Given the description of an element on the screen output the (x, y) to click on. 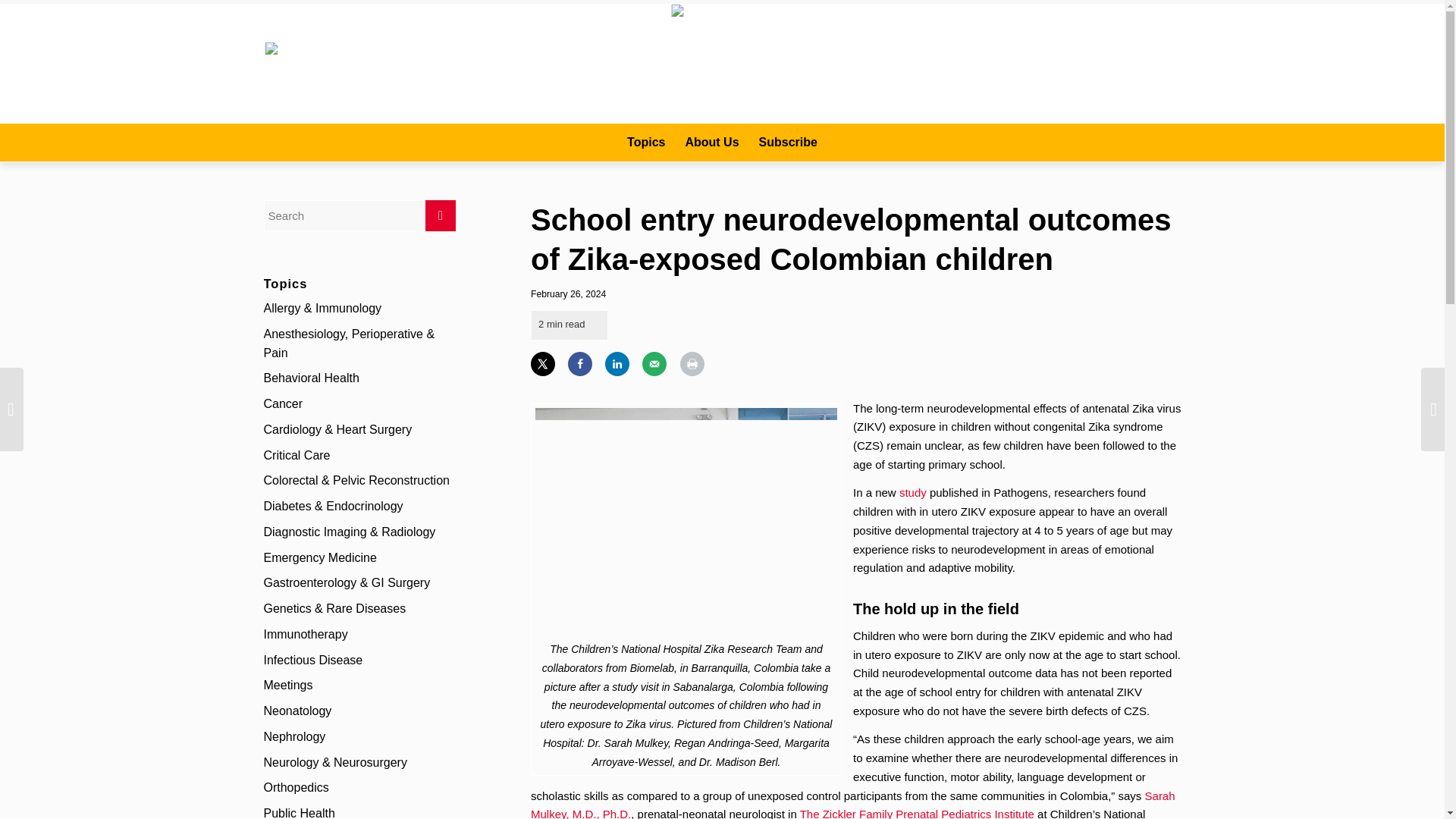
Subscribe (788, 142)
Print this webpage (691, 363)
The Zickler Family Prenatal Pediatrics Institute (916, 813)
Share on X (542, 363)
study (912, 492)
Sarah Mulkey, M.D., Ph.D. (852, 803)
Share on Facebook (579, 363)
Topics (646, 142)
Send over email (654, 363)
About Us (711, 142)
